Given the description of an element on the screen output the (x, y) to click on. 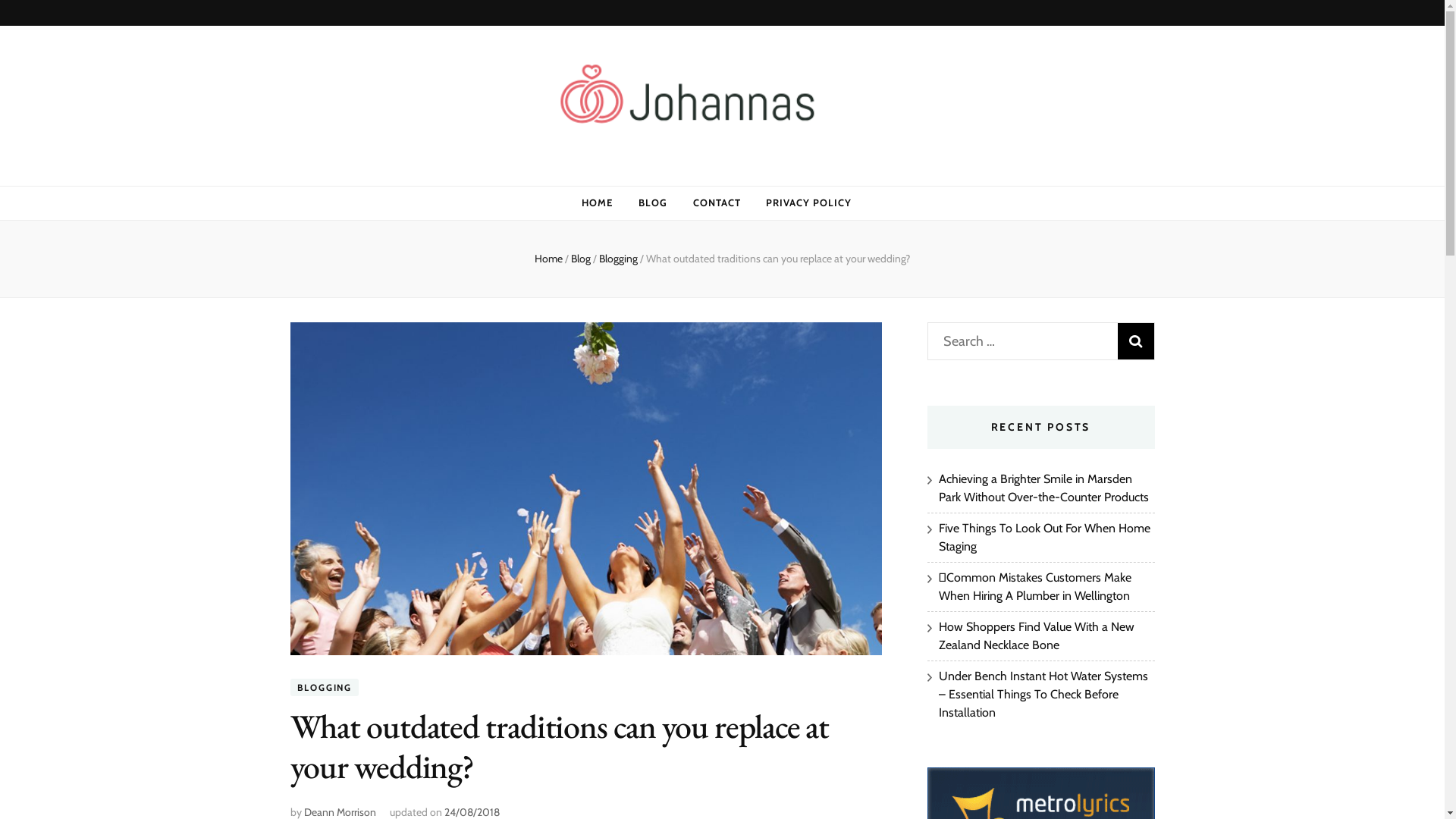
Johannas 4 Weddings Element type: text (512, 172)
Blog Element type: text (582, 258)
Five Things To Look Out For When Home Staging Element type: text (1044, 536)
Blogging Element type: text (619, 258)
PRIVACY POLICY Element type: text (808, 202)
CONTACT Element type: text (716, 202)
HOME Element type: text (596, 202)
What outdated traditions can you replace at your wedding? Element type: text (778, 258)
Search Element type: text (1135, 341)
BLOG Element type: text (652, 202)
How Shoppers Find Value With a New Zealand Necklace Bone Element type: text (1036, 635)
Home Element type: text (548, 258)
BLOGGING Element type: text (323, 687)
